Given the description of an element on the screen output the (x, y) to click on. 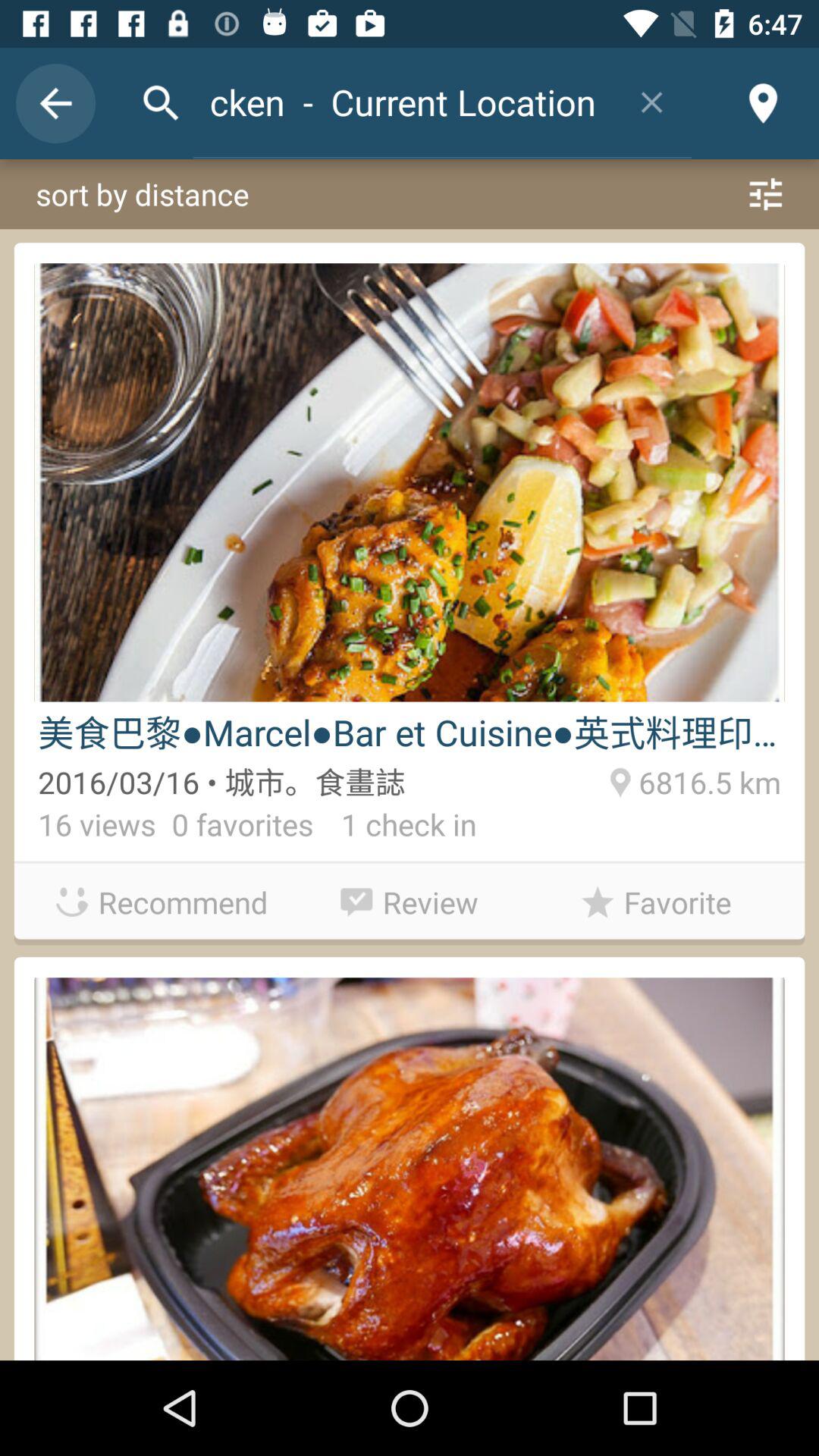
turn off item to the right of the chicken  -  current location item (651, 101)
